Given the description of an element on the screen output the (x, y) to click on. 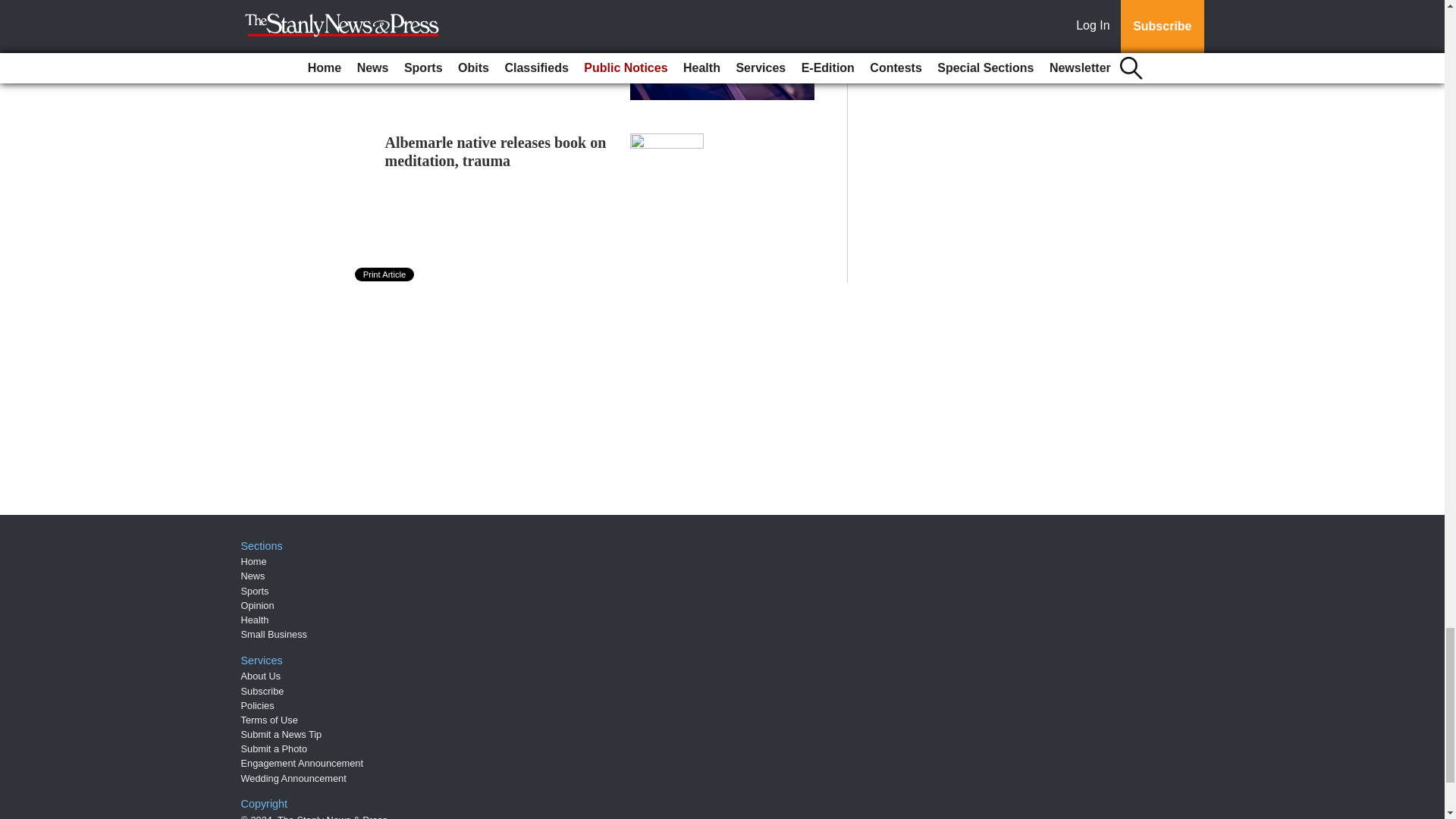
Print Article (384, 274)
Albemarle native releases book on meditation, trauma (496, 151)
Albemarle native releases book on meditation, trauma (496, 151)
